Given the description of an element on the screen output the (x, y) to click on. 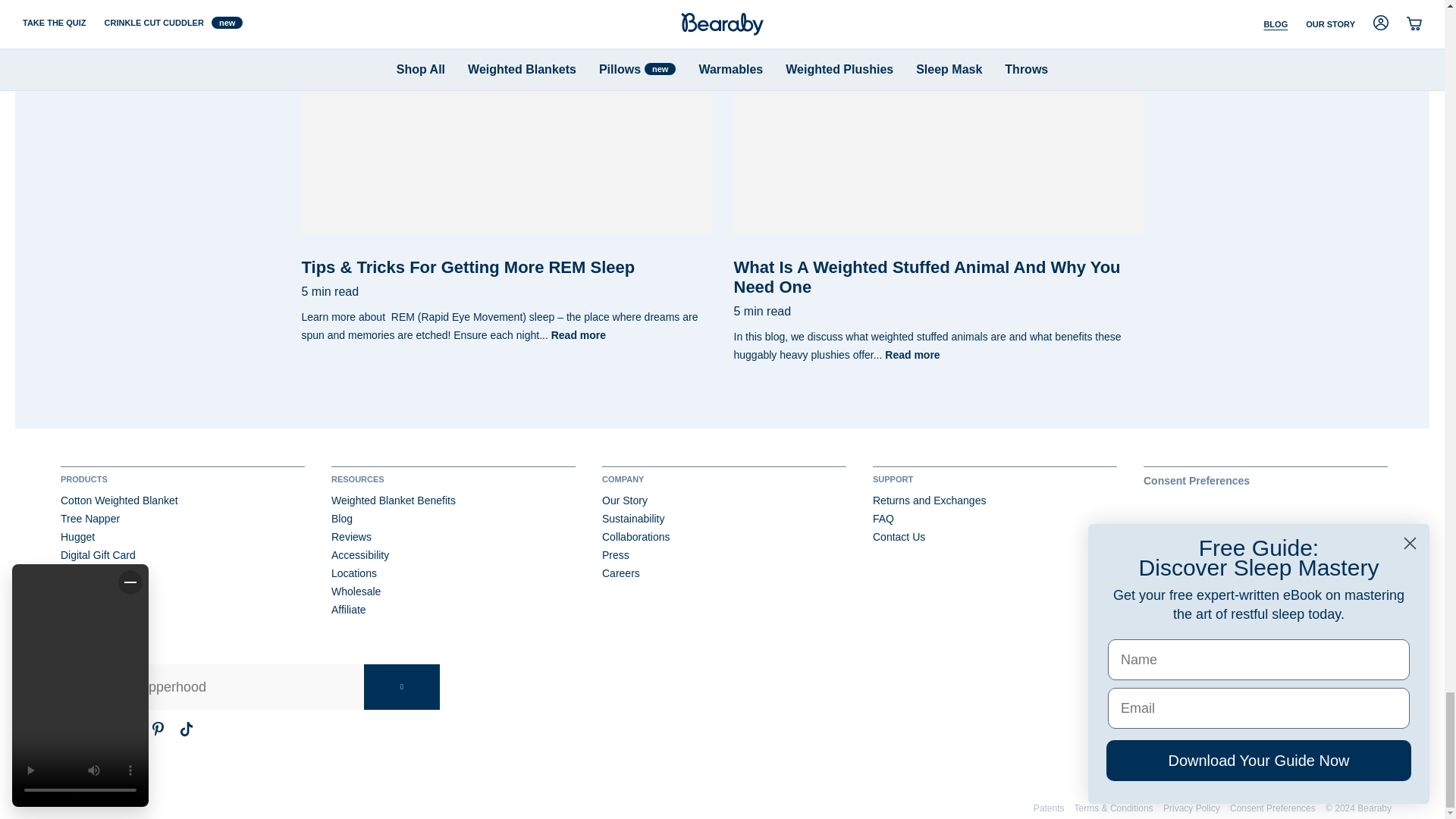
What Is A Weighted Stuffed Animal And Why You Need One (937, 117)
